Given the description of an element on the screen output the (x, y) to click on. 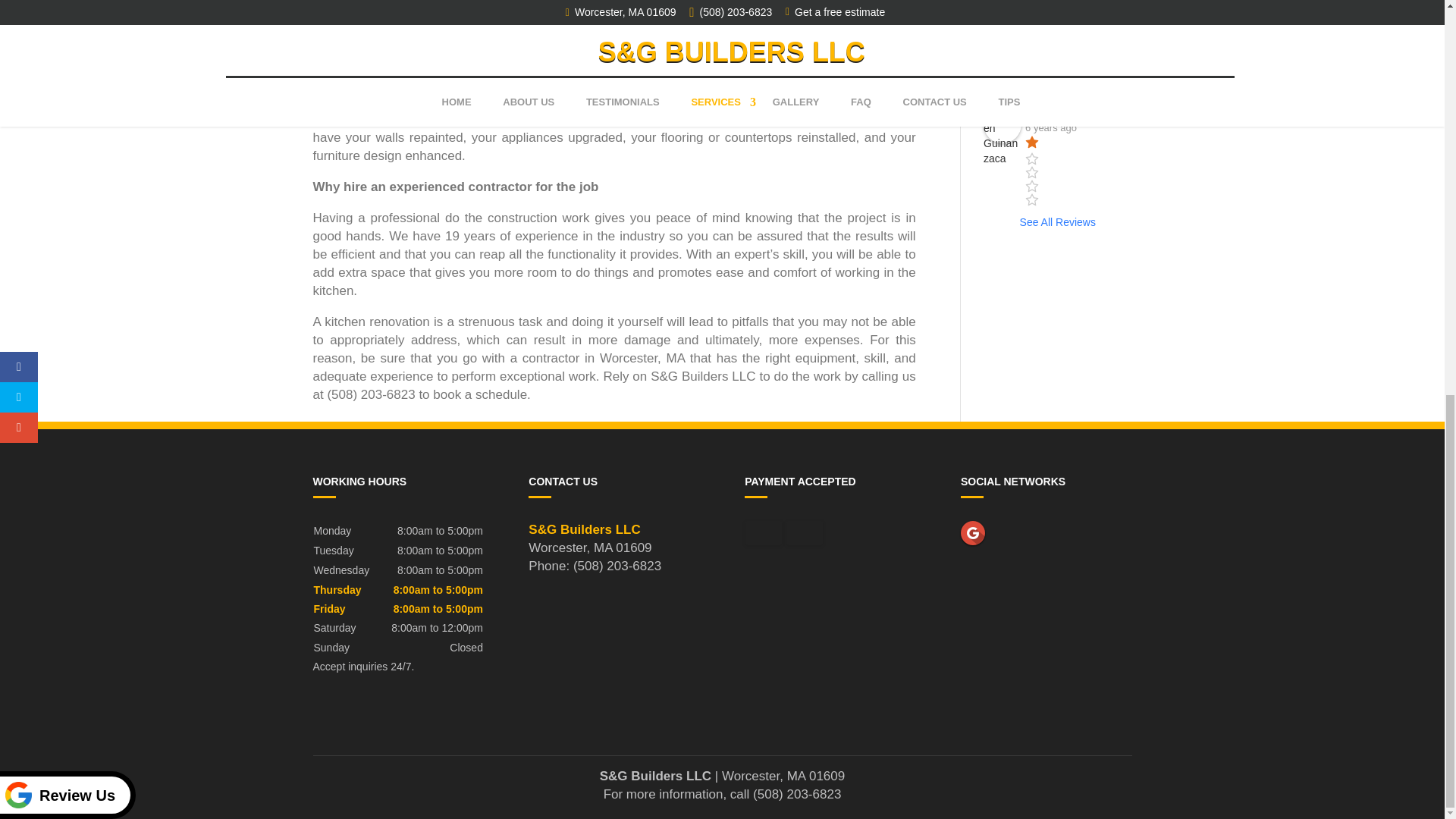
Steven Guinanzaca (1003, 124)
Check company profile on google (972, 532)
check payment accepted (804, 532)
cash payment accepted (763, 532)
